Given the description of an element on the screen output the (x, y) to click on. 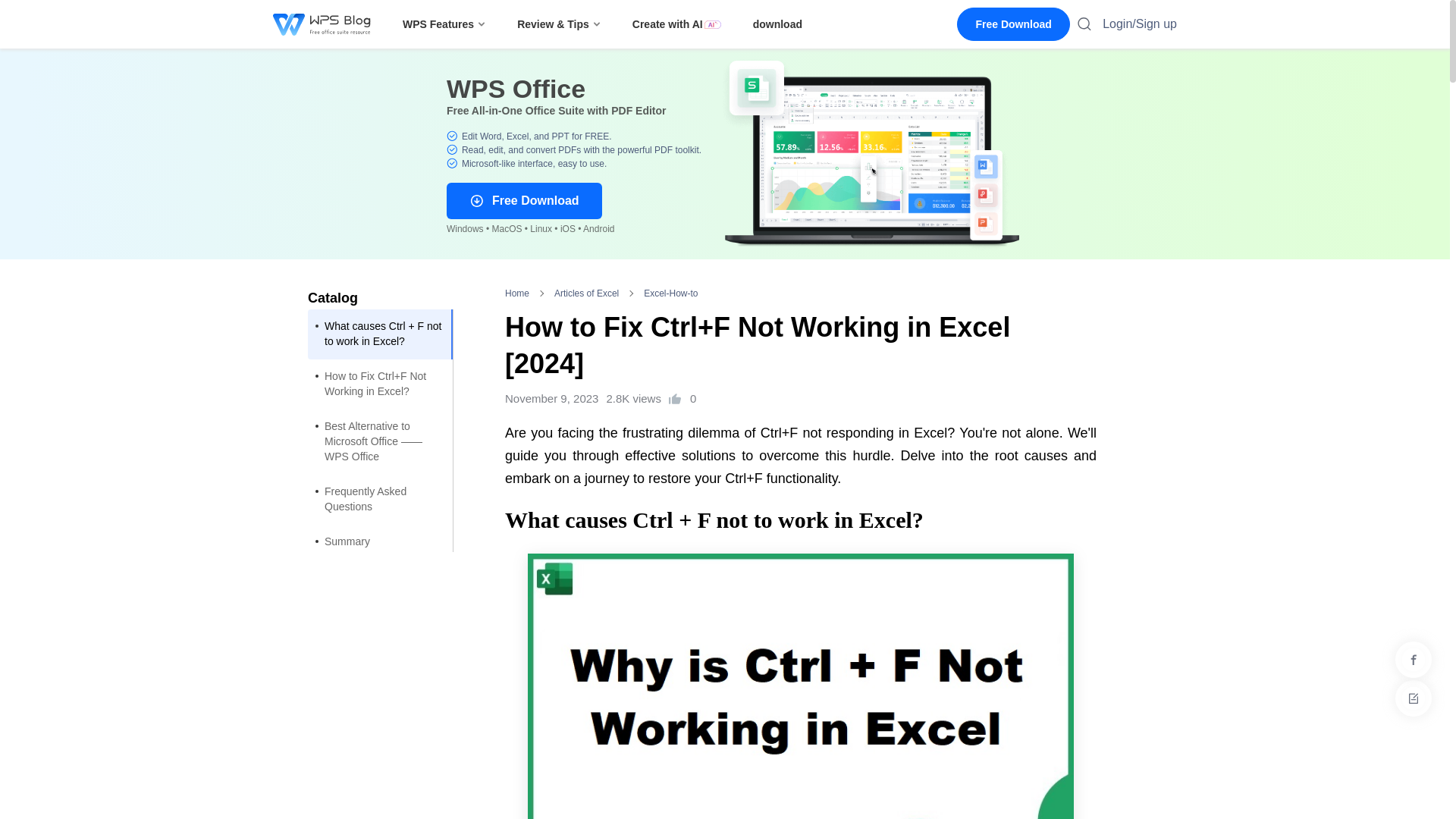
download (777, 24)
